Given the description of an element on the screen output the (x, y) to click on. 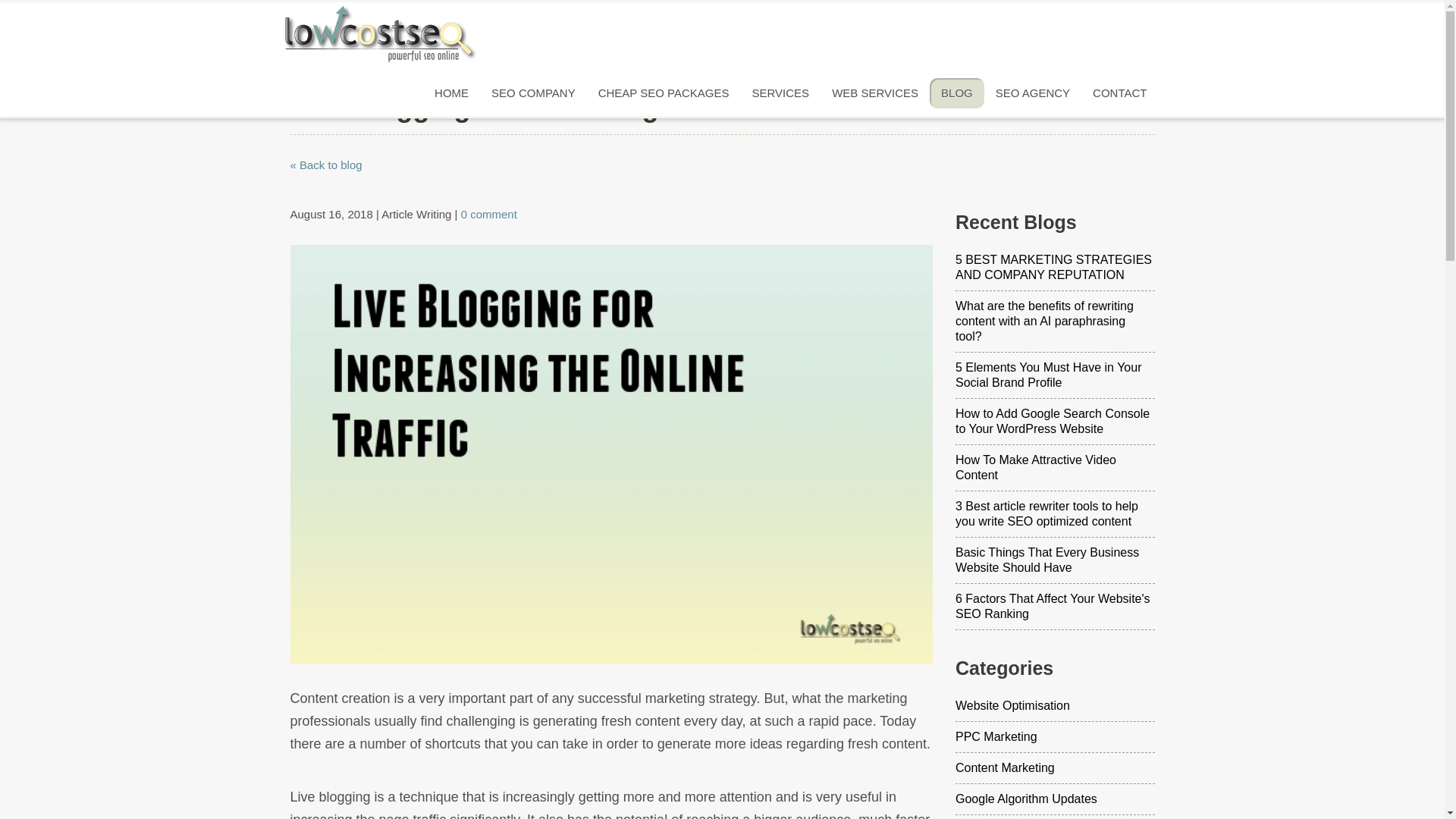
CHEAP SEO PACKAGES (663, 92)
CONTACT (1119, 92)
SERVICES (781, 92)
0 comment (488, 214)
SEO AGENCY (1032, 92)
SEO COMPANY (533, 92)
BLOG (957, 92)
HOME (451, 92)
